Given the description of an element on the screen output the (x, y) to click on. 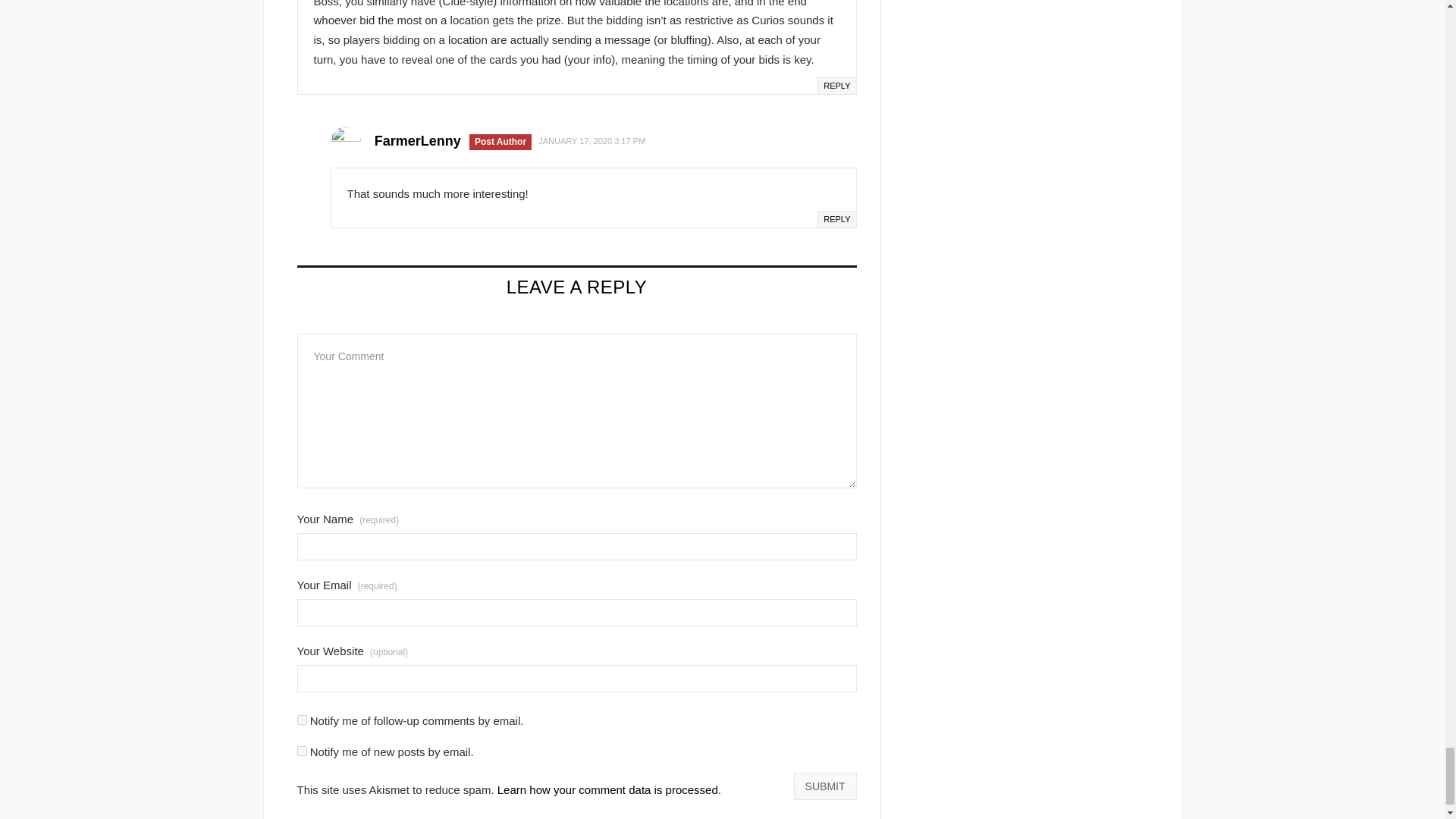
Submit (825, 786)
subscribe (302, 719)
subscribe (302, 750)
